Given the description of an element on the screen output the (x, y) to click on. 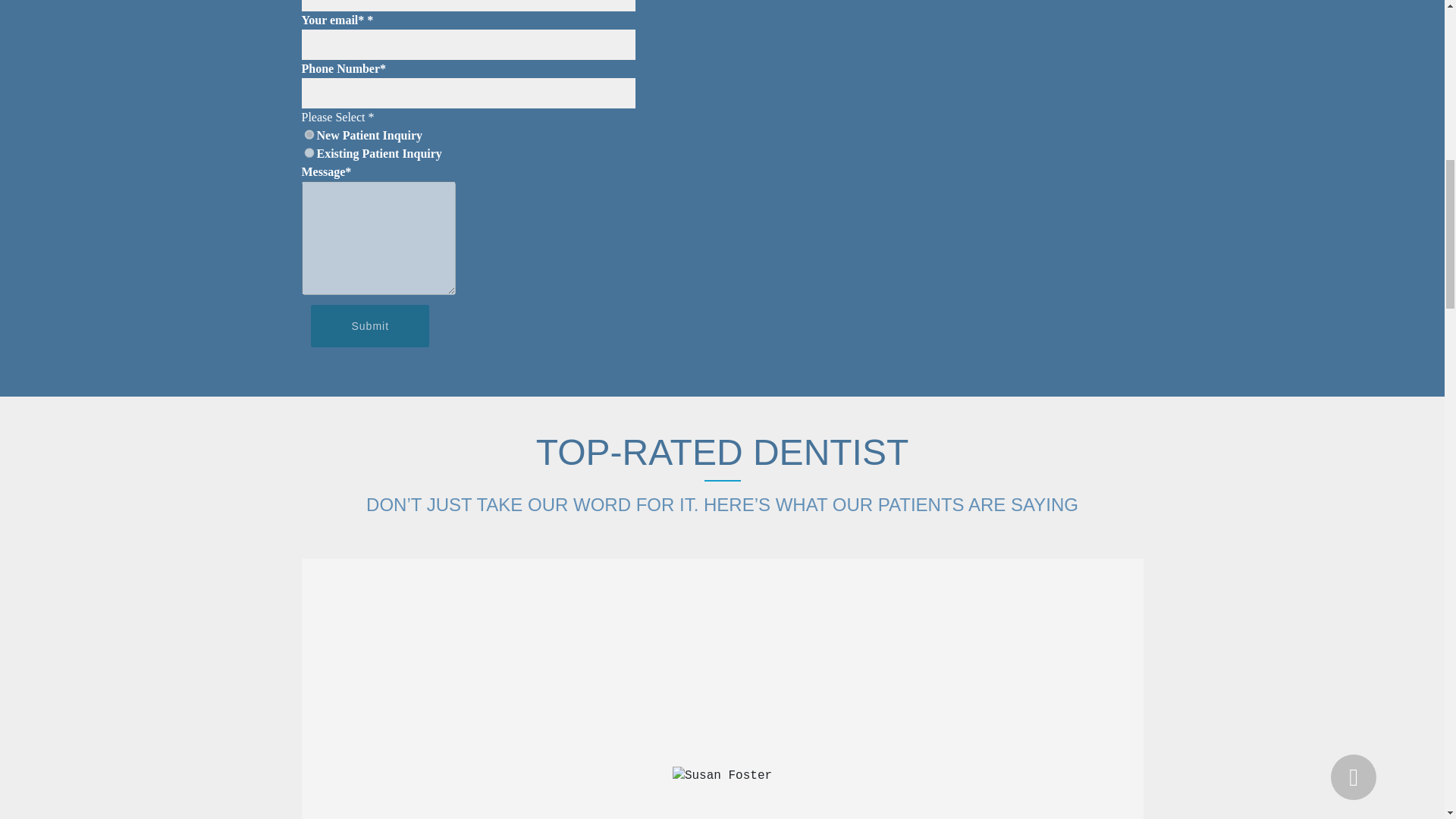
New Patient Inquiry (309, 134)
Existing Patient Inquiry (309, 153)
Submit (370, 325)
Existing Patient Inquiry (468, 153)
New Patient Inquiry (468, 135)
